Given the description of an element on the screen output the (x, y) to click on. 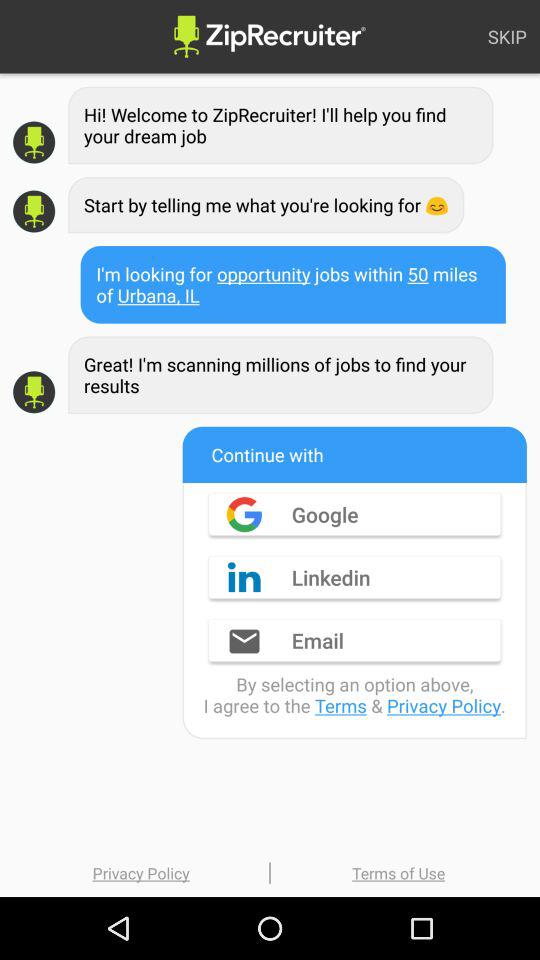
click skip (507, 36)
